Given the description of an element on the screen output the (x, y) to click on. 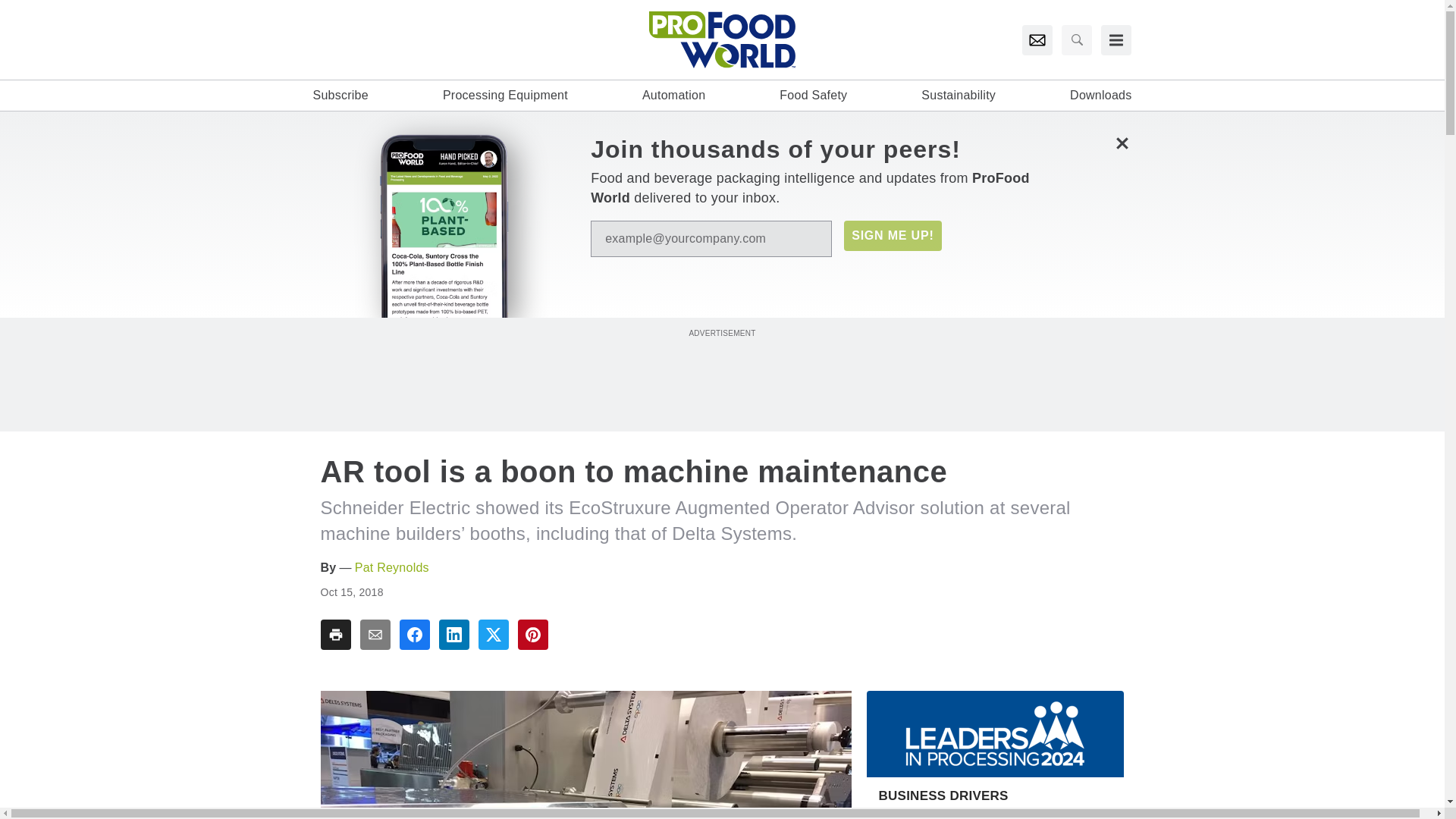
3rd party ad content (721, 374)
Food Safety (812, 95)
Automation (673, 95)
Share To twitter (492, 634)
Subscribe (340, 95)
SIGN ME UP! (892, 235)
Share To facebook (413, 634)
Share To email (374, 634)
Processing Equipment (504, 95)
Share To print (335, 634)
Downloads (1100, 95)
Sustainability (958, 95)
Share To linkedin (453, 634)
Share To pinterest (531, 634)
